Given the description of an element on the screen output the (x, y) to click on. 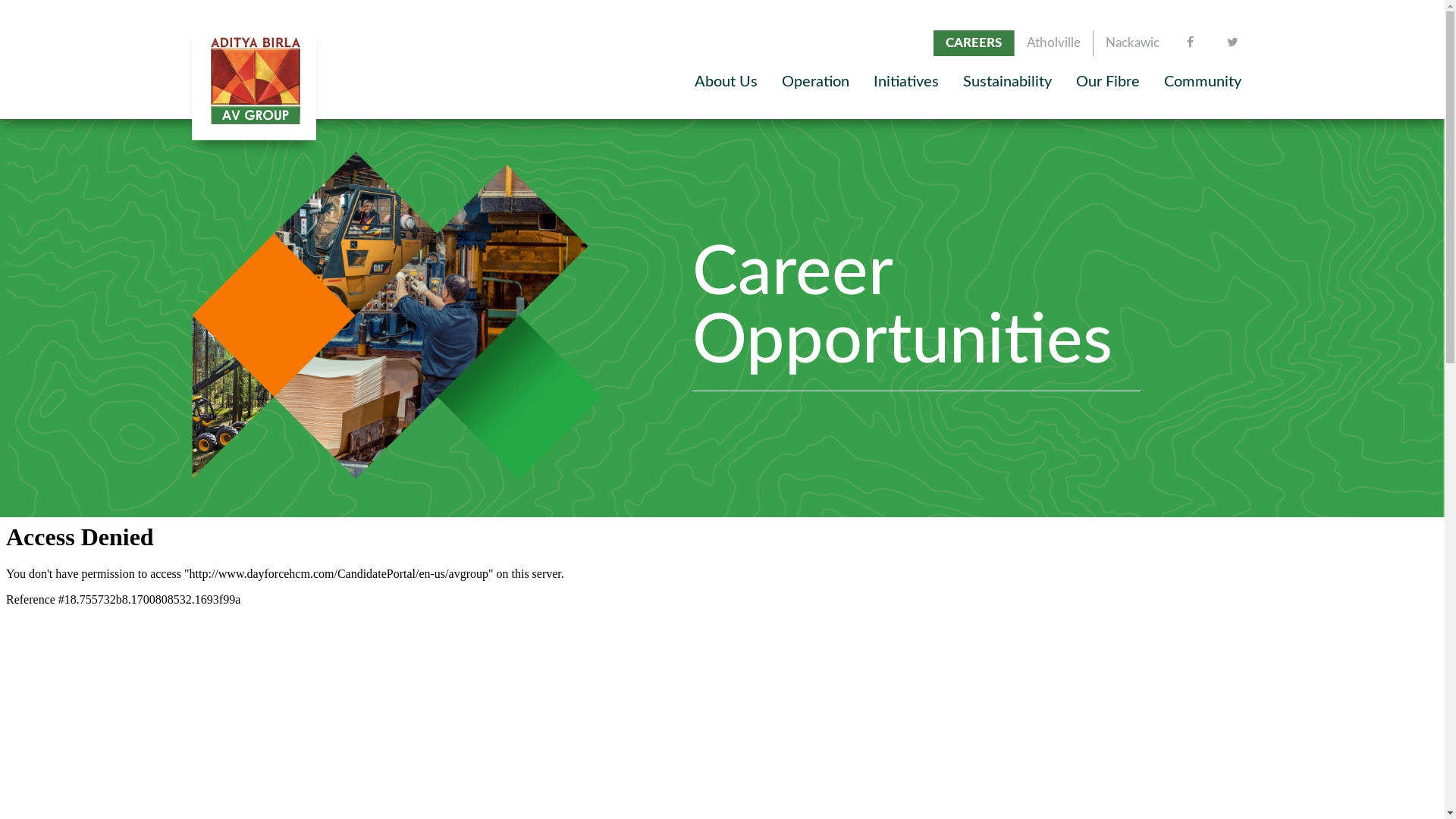
Operation Element type: text (814, 81)
Community Element type: text (1201, 81)
Nackawic Element type: text (1132, 43)
About Us Element type: text (725, 81)
Atholville Element type: text (1053, 43)
Sustainability Element type: text (1007, 81)
CAREERS Element type: text (972, 43)
Our Fibre Element type: text (1107, 81)
AV Group Element type: hover (304, 81)
Initiatives Element type: text (905, 81)
